Given the description of an element on the screen output the (x, y) to click on. 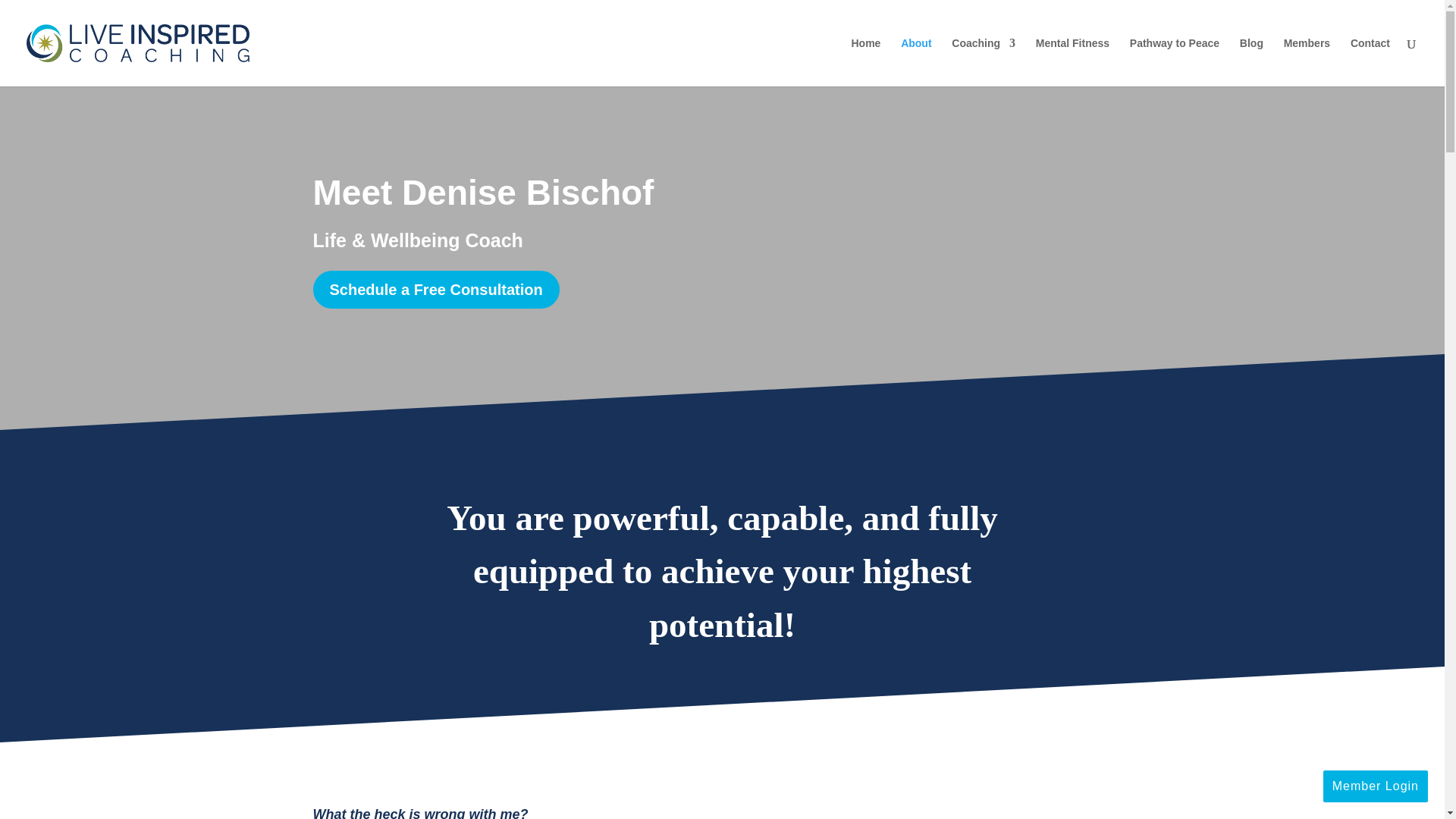
Mental Fitness (1072, 61)
Coaching (983, 61)
Schedule a Free Consultation (436, 288)
Members (1307, 61)
Pathway to Peace (1174, 61)
